Given the description of an element on the screen output the (x, y) to click on. 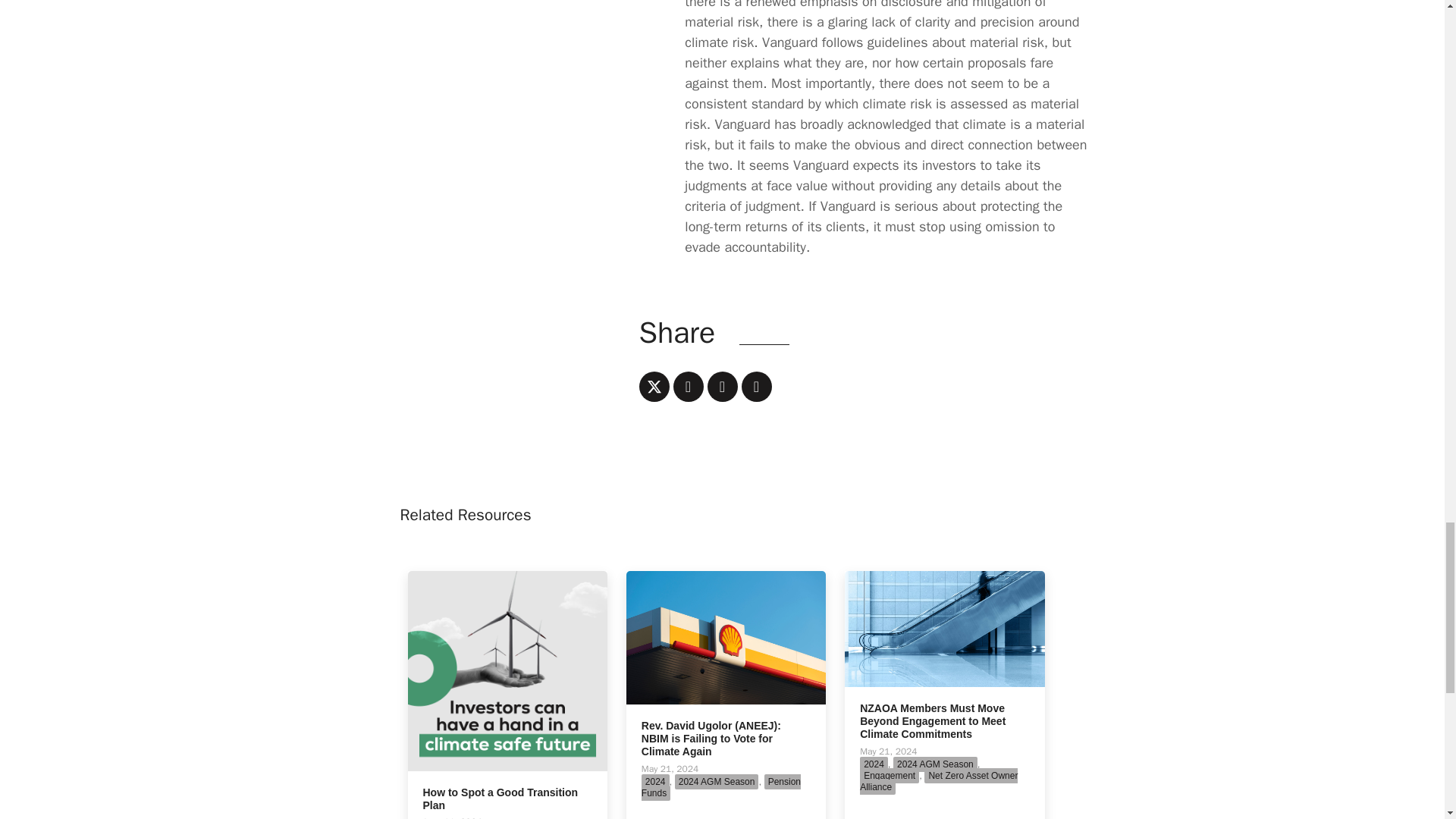
2024 (655, 781)
2024 AGM Season (716, 781)
How to Spot a Good Transition Plan (507, 669)
How to Spot a Good Transition Plan (500, 798)
